Given the description of an element on the screen output the (x, y) to click on. 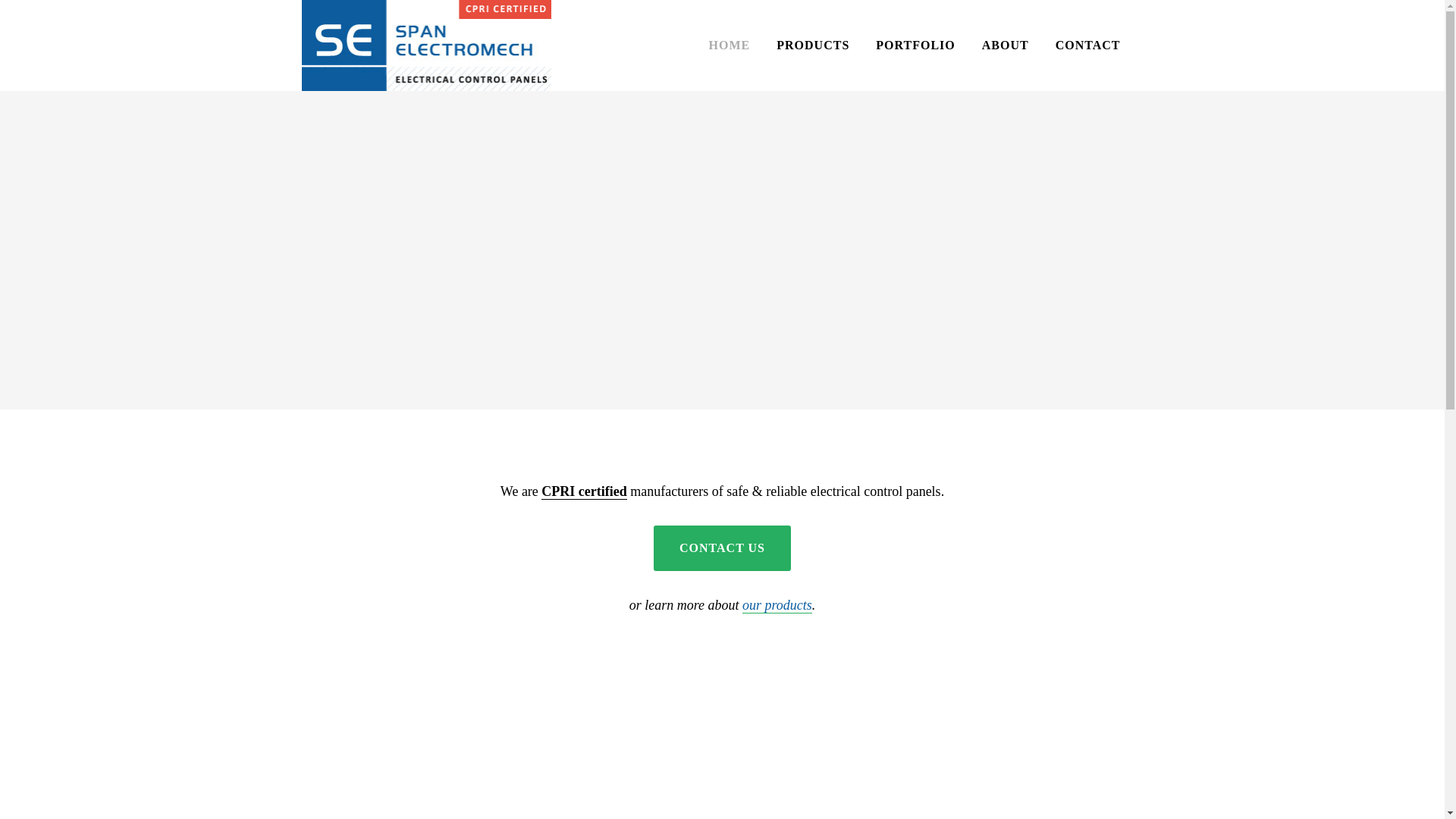
CONTACT (1088, 44)
our products (777, 605)
PRODUCTS (812, 44)
SPAN ELECTOMECH (398, 34)
ABOUT (1005, 44)
PORTFOLIO (915, 44)
CONTACT US (721, 547)
HOME (730, 44)
